Given the description of an element on the screen output the (x, y) to click on. 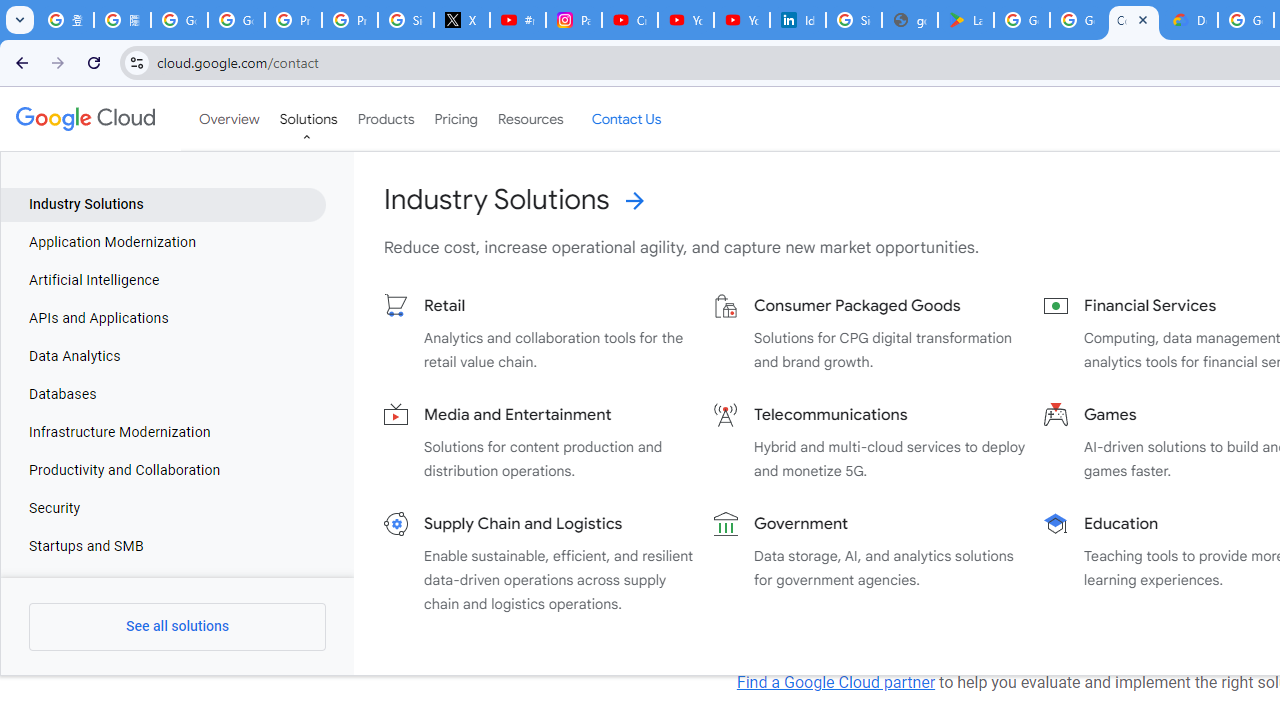
Solutions (308, 119)
See all solutions (177, 626)
Google Workspace - Specific Terms (1077, 20)
Data Analytics (163, 356)
Startups and SMB (163, 546)
Security (163, 508)
Sign in - Google Accounts (405, 20)
Databases (163, 394)
